Given the description of an element on the screen output the (x, y) to click on. 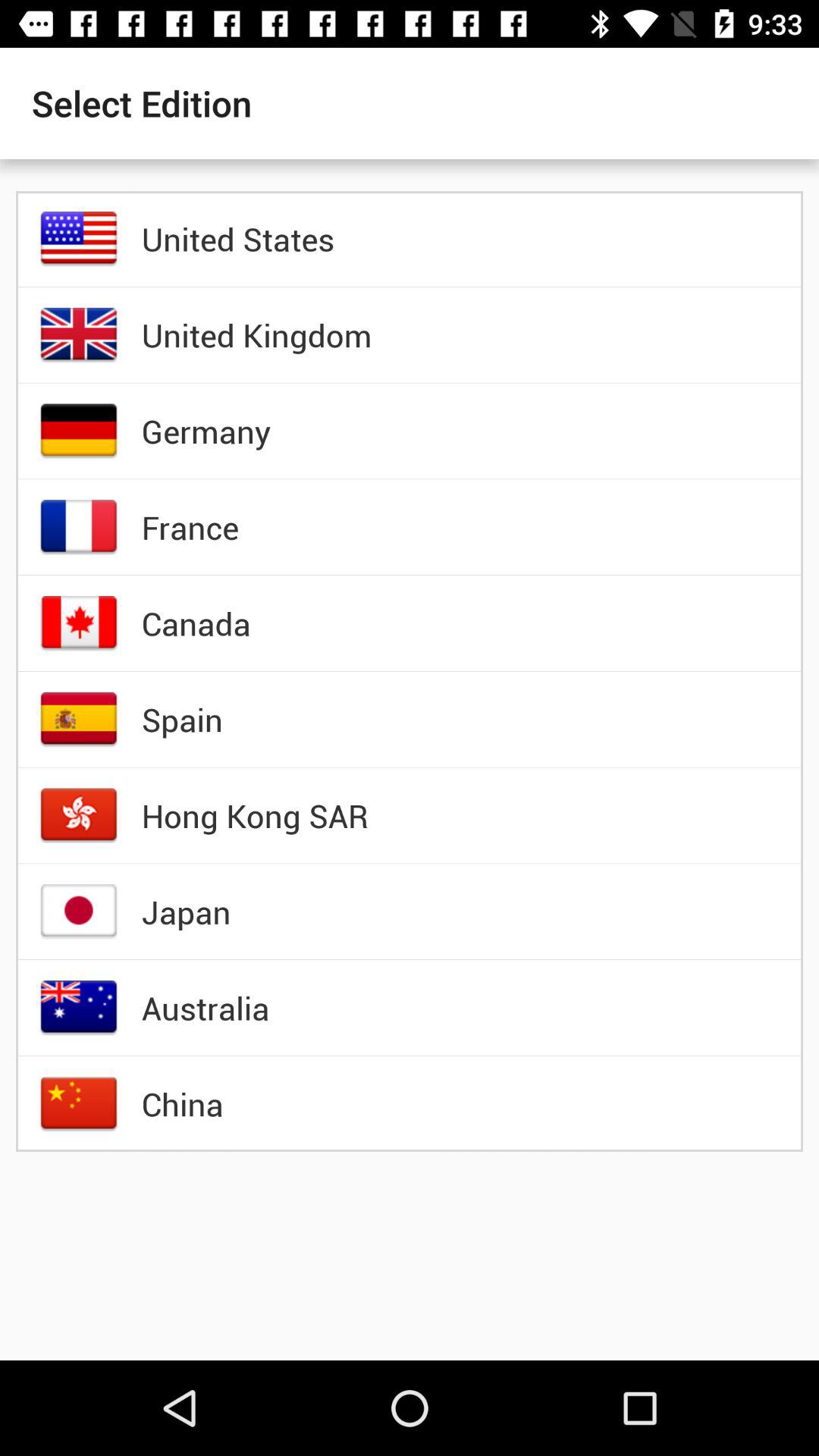
scroll to the germany (205, 430)
